Given the description of an element on the screen output the (x, y) to click on. 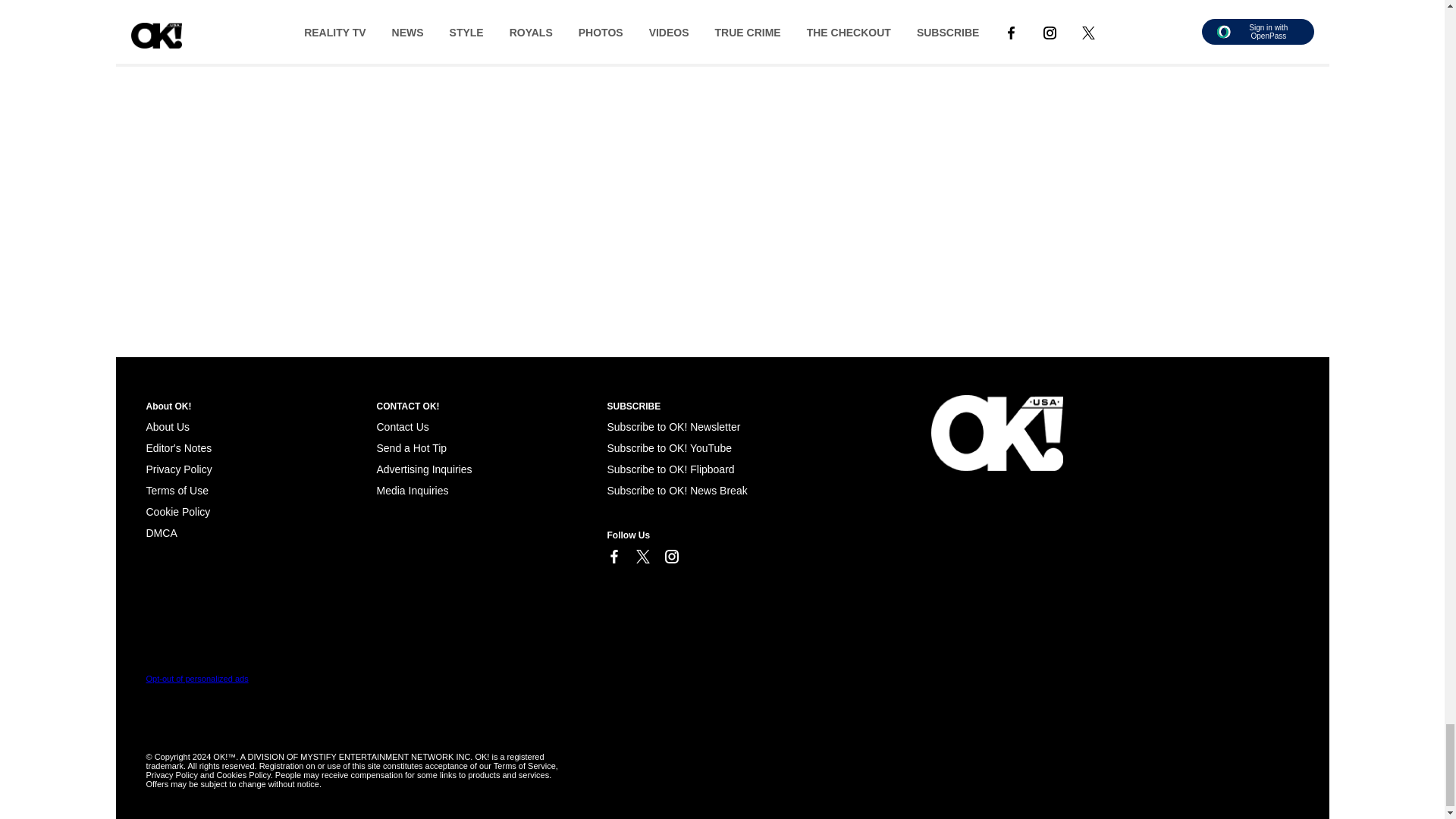
Cookie Policy (160, 532)
Cookie Policy (177, 511)
Privacy Policy (178, 469)
Terms of Use (176, 490)
Link to X (641, 556)
Link to Instagram (670, 556)
Editor's Notes (178, 448)
Link to Facebook (613, 556)
About Us (167, 426)
